Given the description of an element on the screen output the (x, y) to click on. 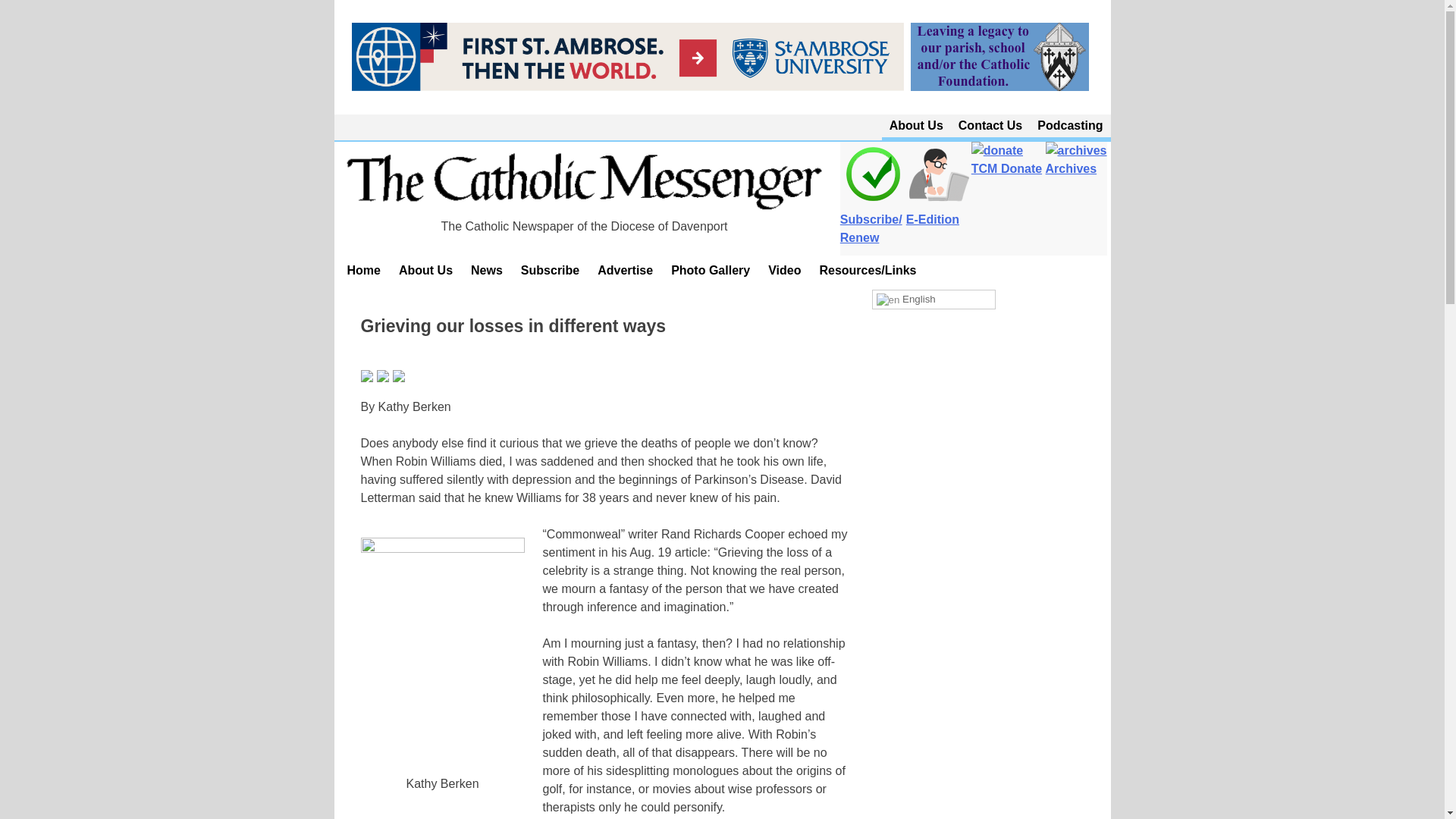
TCM Donate (1006, 159)
About Us (425, 270)
Share on Twitter (381, 376)
Podcasting (1069, 125)
Advertise (625, 270)
Home (363, 270)
Subscribe (549, 270)
Share on Facebook (366, 376)
News (487, 270)
E-Edition (938, 210)
Archives (1075, 159)
Share by email (398, 376)
About Us (916, 125)
Contact Us (989, 125)
